Given the description of an element on the screen output the (x, y) to click on. 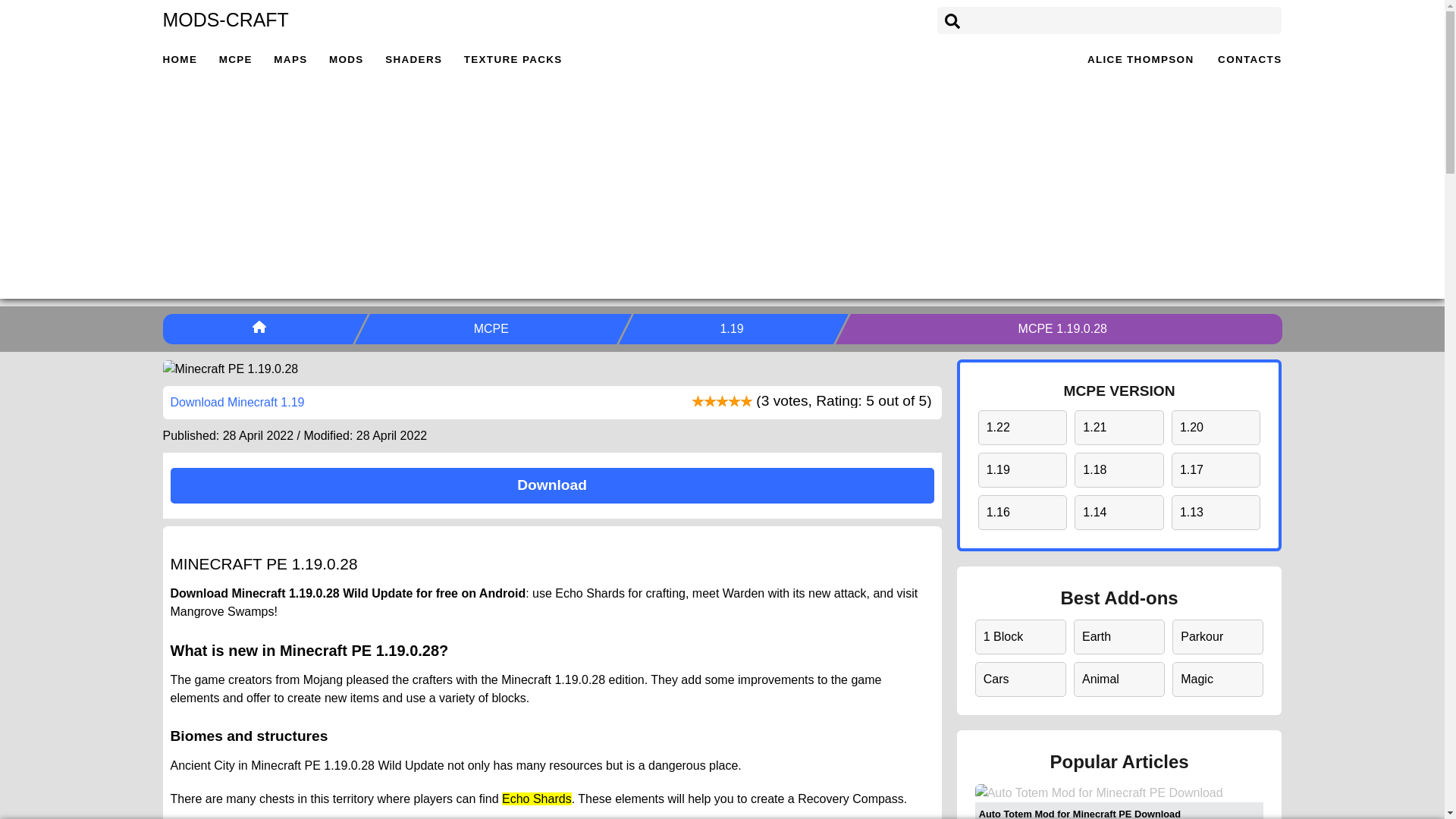
CONTACTS (1249, 59)
MCPE (492, 328)
Contacts (1249, 59)
Download (551, 484)
Alice Thompson (1140, 59)
1.18 (1119, 470)
1.20 (1215, 427)
MAPS (289, 58)
1.22 (1023, 427)
MODS-CRAFT (224, 19)
